Given the description of an element on the screen output the (x, y) to click on. 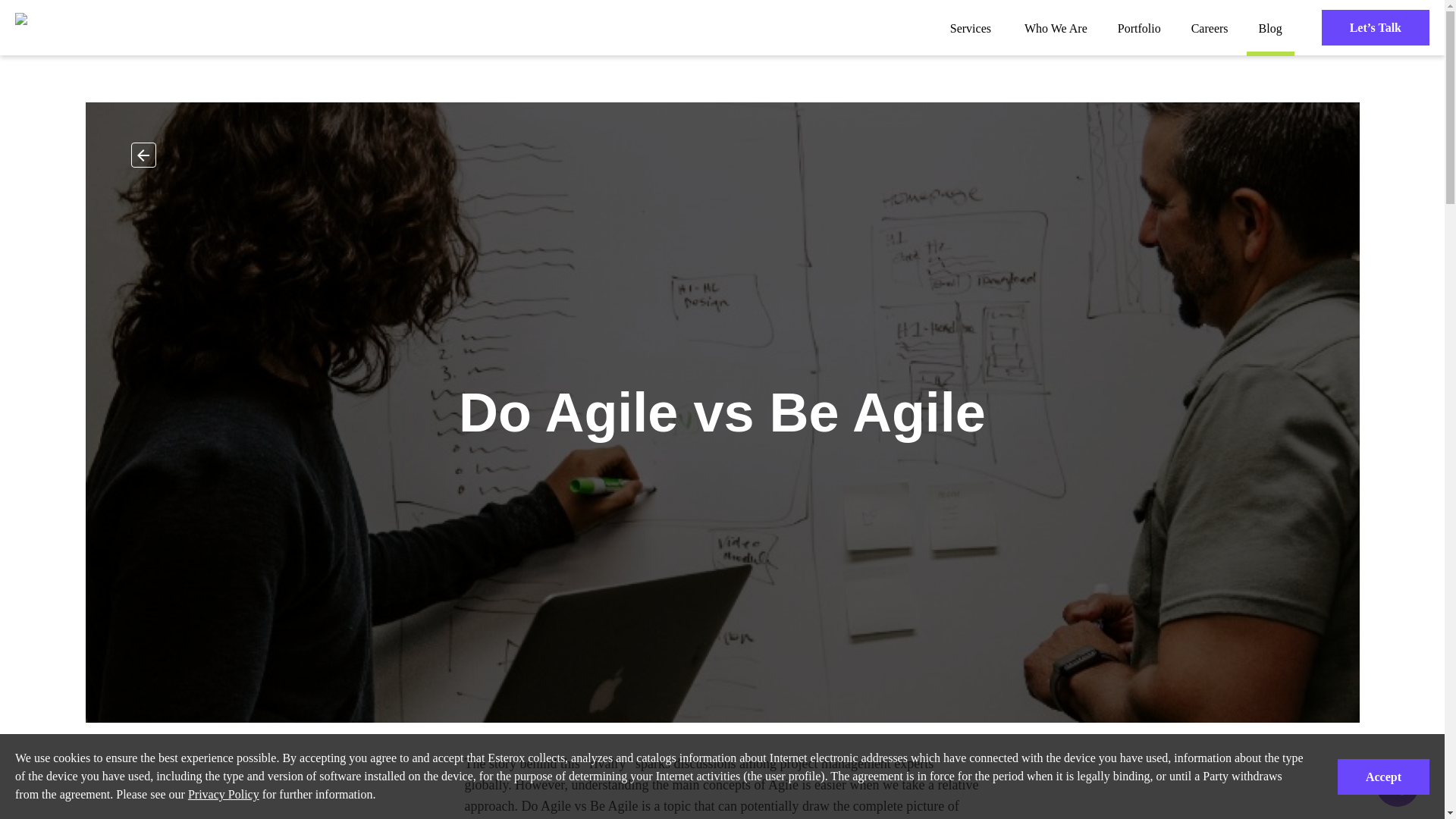
Careers (1209, 28)
Portfolio (1139, 28)
Blog (1270, 28)
Who We Are (1055, 28)
Services (970, 35)
